Given the description of an element on the screen output the (x, y) to click on. 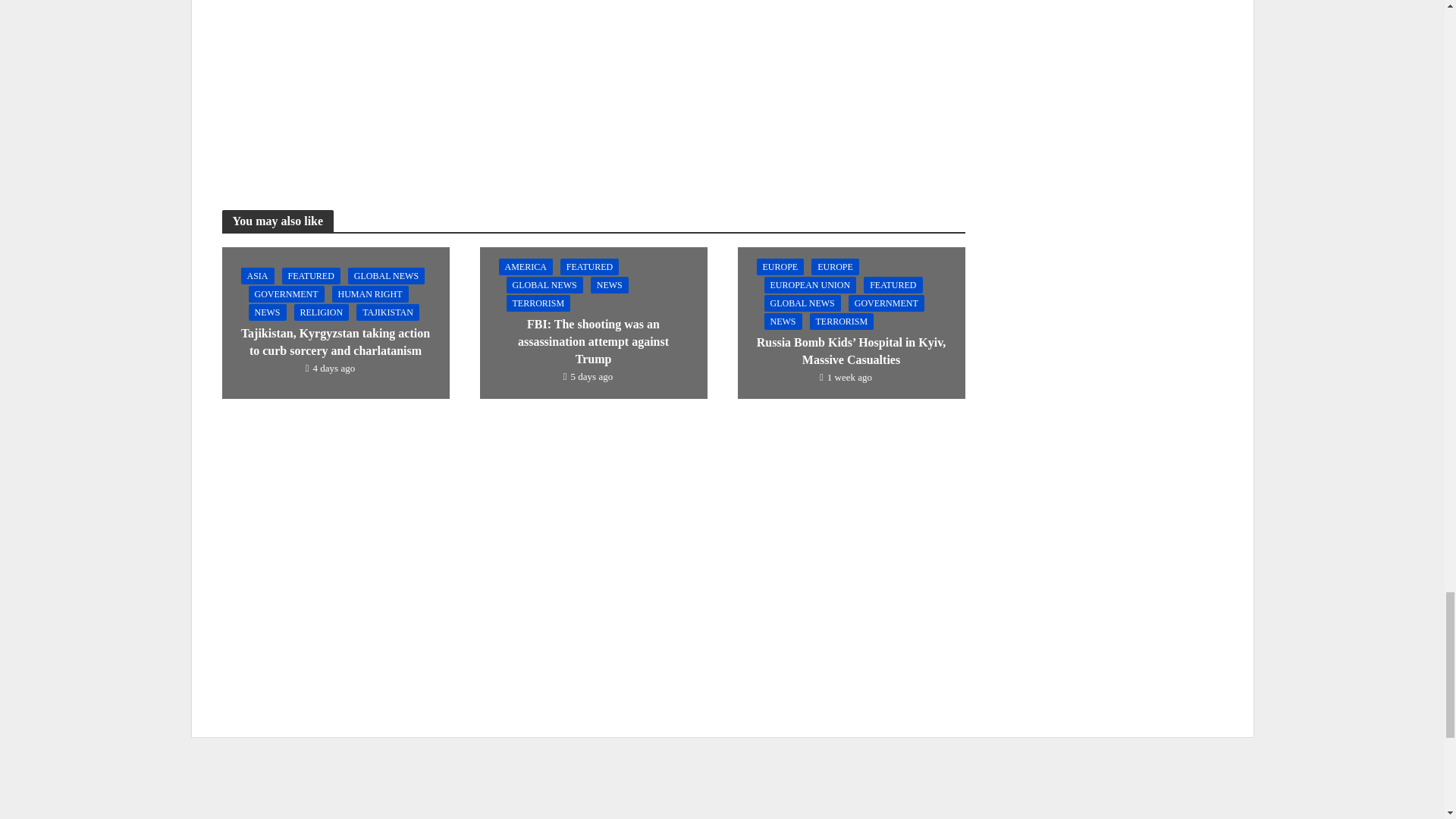
FBI: The shooting was an assassination attempt against Trump (592, 321)
